Given the description of an element on the screen output the (x, y) to click on. 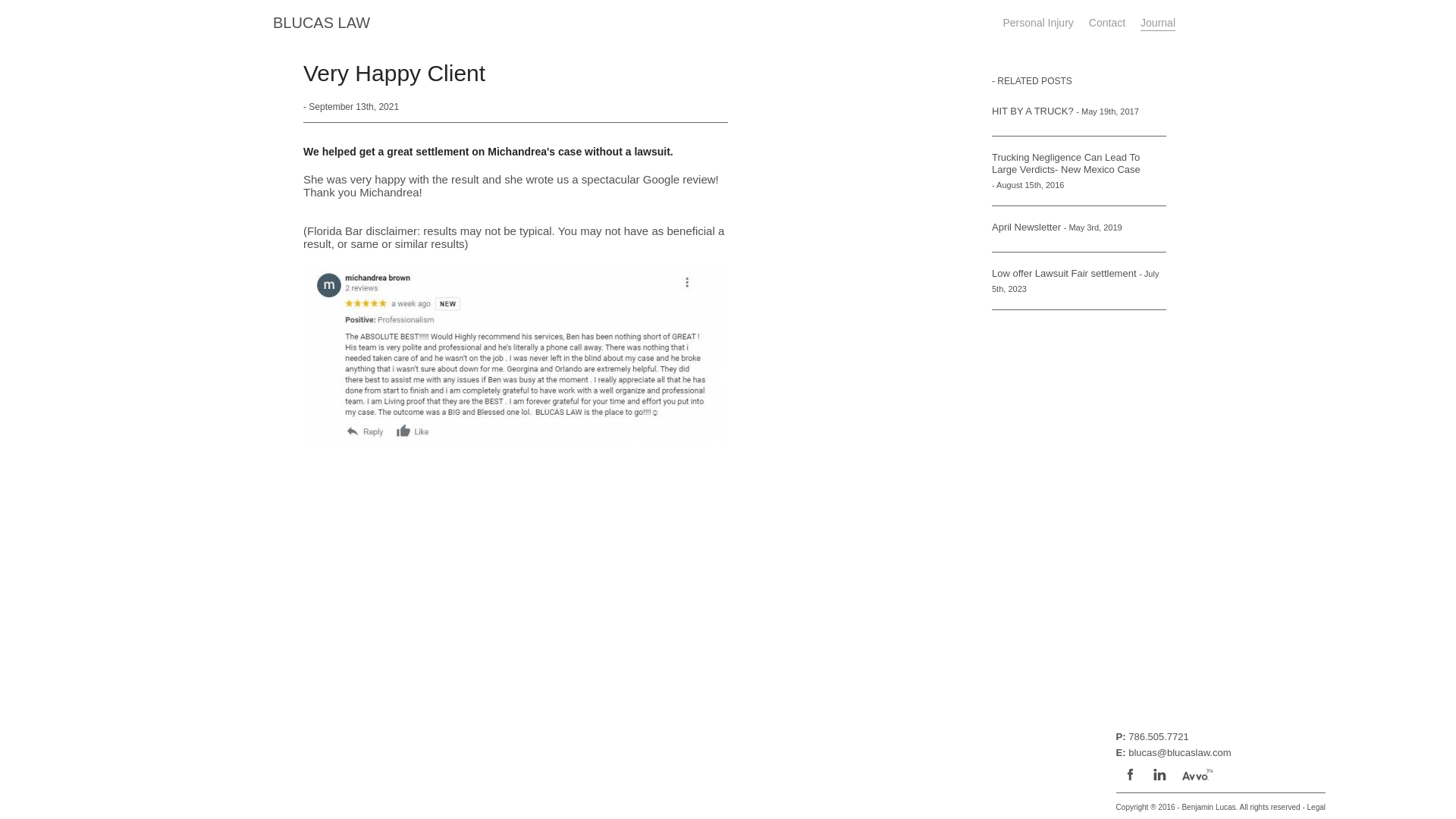
Low offer Lawsuit Fair settlement (1064, 273)
Contact (1107, 22)
Personal Injury (1038, 22)
HIT BY A TRUCK? (1032, 111)
April Newsletter (1026, 227)
Journal (1157, 22)
BLUCAS LAW (321, 22)
